Given the description of an element on the screen output the (x, y) to click on. 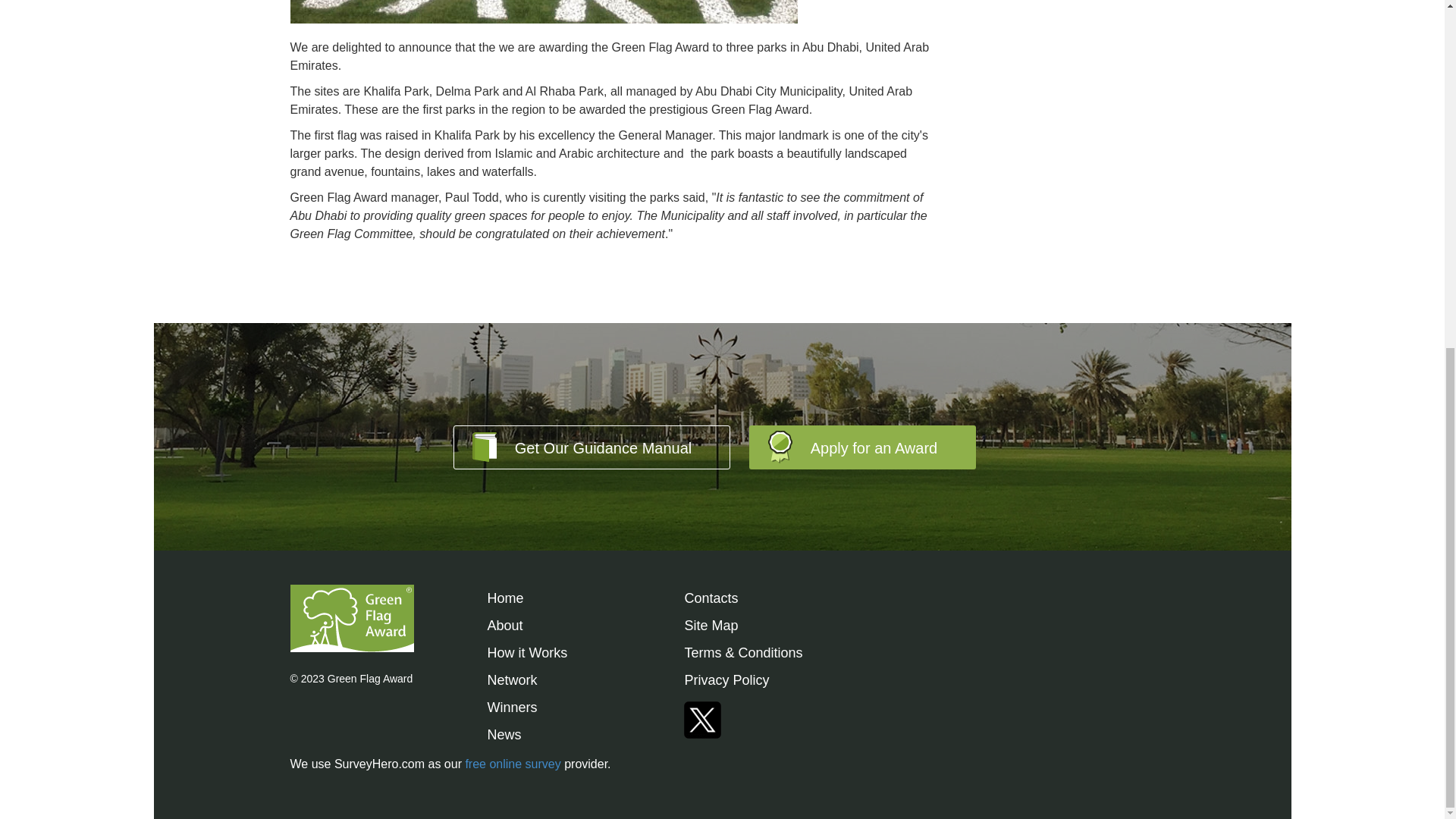
Award Winners (511, 707)
Site Map (711, 625)
News (503, 734)
Privacy (726, 679)
How it Works (526, 652)
Twitter-x (702, 714)
About the Award (504, 625)
Home (504, 598)
Contacts (711, 598)
RoI (511, 679)
Terms and Conditions (743, 652)
